Given the description of an element on the screen output the (x, y) to click on. 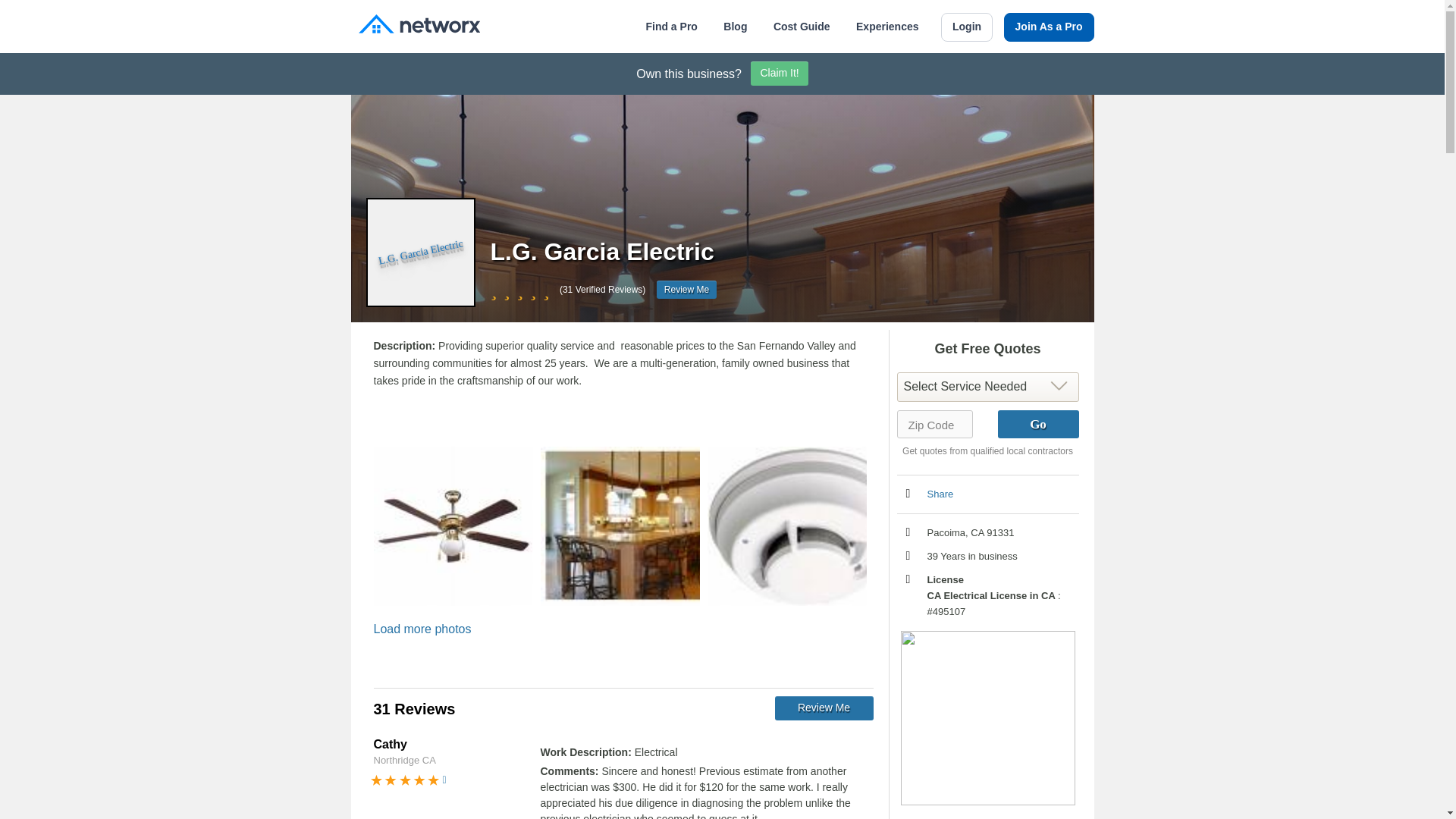
Networx (418, 25)
Login (966, 27)
Go (1037, 424)
Review Me (686, 289)
Review Me (823, 708)
Join As a Pro (1049, 27)
Experiences (887, 26)
Find a Pro (670, 26)
Go (1037, 424)
Claim It! (779, 73)
Cost Guide (801, 26)
